Given the description of an element on the screen output the (x, y) to click on. 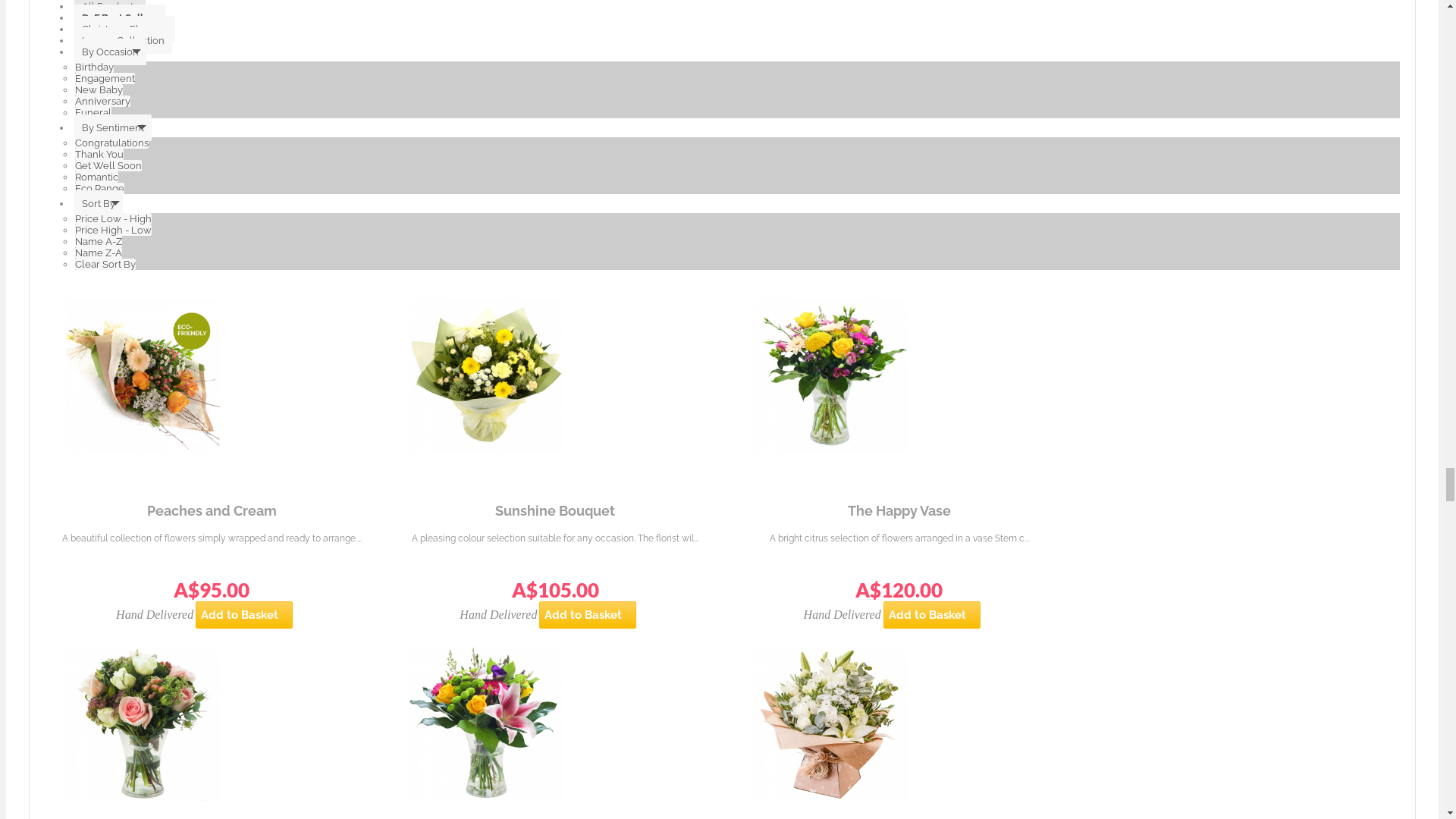
Florist Join Element type: text (85, 49)
My Orders Element type: text (69, 61)
4.7/5 Element type: text (153, 239)
Victoria Element type: text (92, 364)
(41 reviews) 96.83% positive Element type: text (1313, 460)
Help & Contact Element type: text (81, 73)
Same day flower delivery by local florists in Australia Element type: text (174, 95)
100 Tulips Element type: text (275, 364)
Online Shop Element type: text (103, 507)
Home Element type: text (50, 364)
Florist Details Element type: text (107, 521)
Home Element type: text (73, 25)
Why go direct? Element type: text (97, 37)
Read Reviews (41) Element type: text (120, 535)
